Given the description of an element on the screen output the (x, y) to click on. 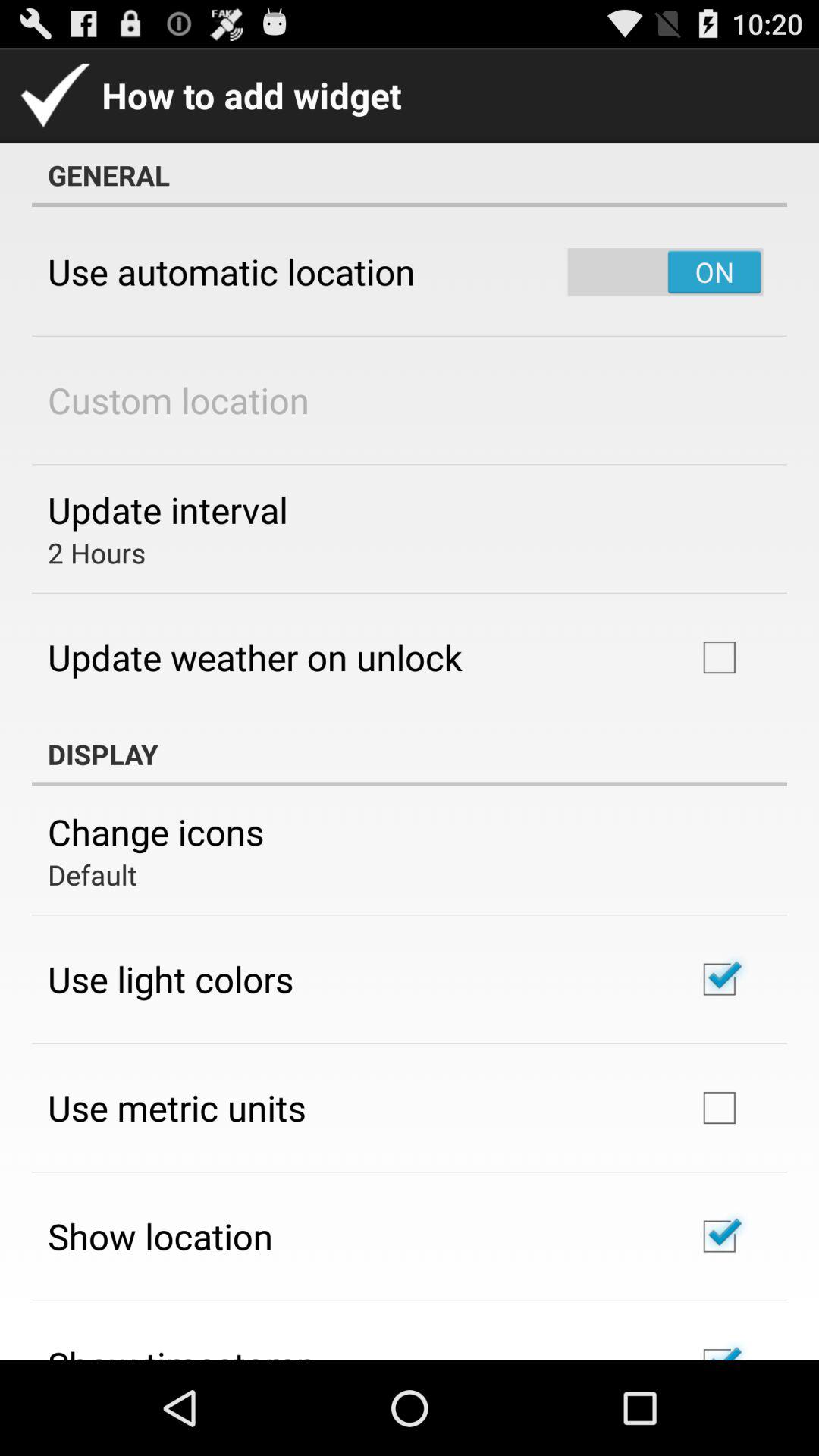
choose the icon above display item (254, 657)
